Given the description of an element on the screen output the (x, y) to click on. 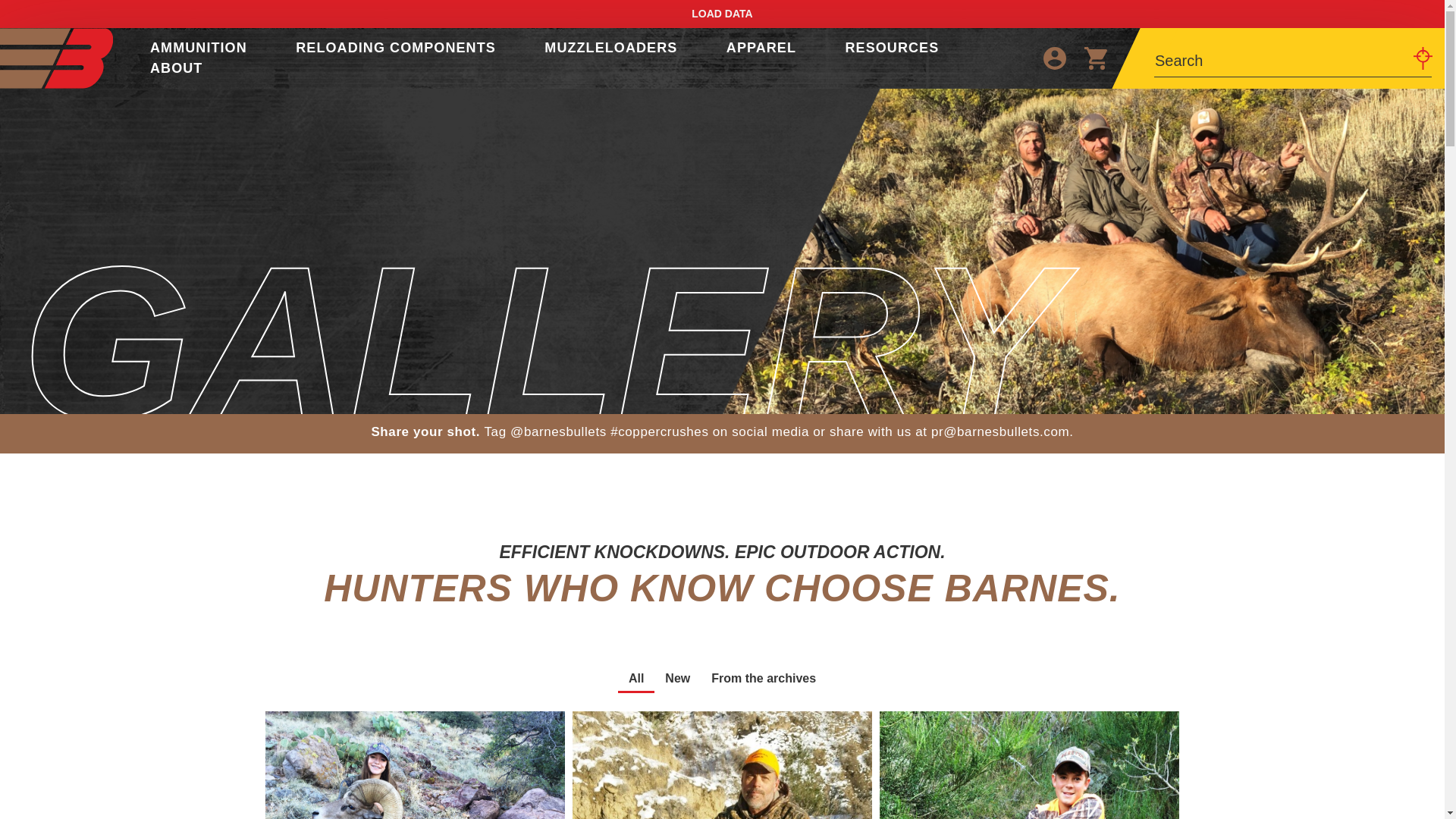
LOAD DATA (721, 13)
AMMUNITION (198, 47)
RELOADING COMPONENTS (395, 47)
